Given the description of an element on the screen output the (x, y) to click on. 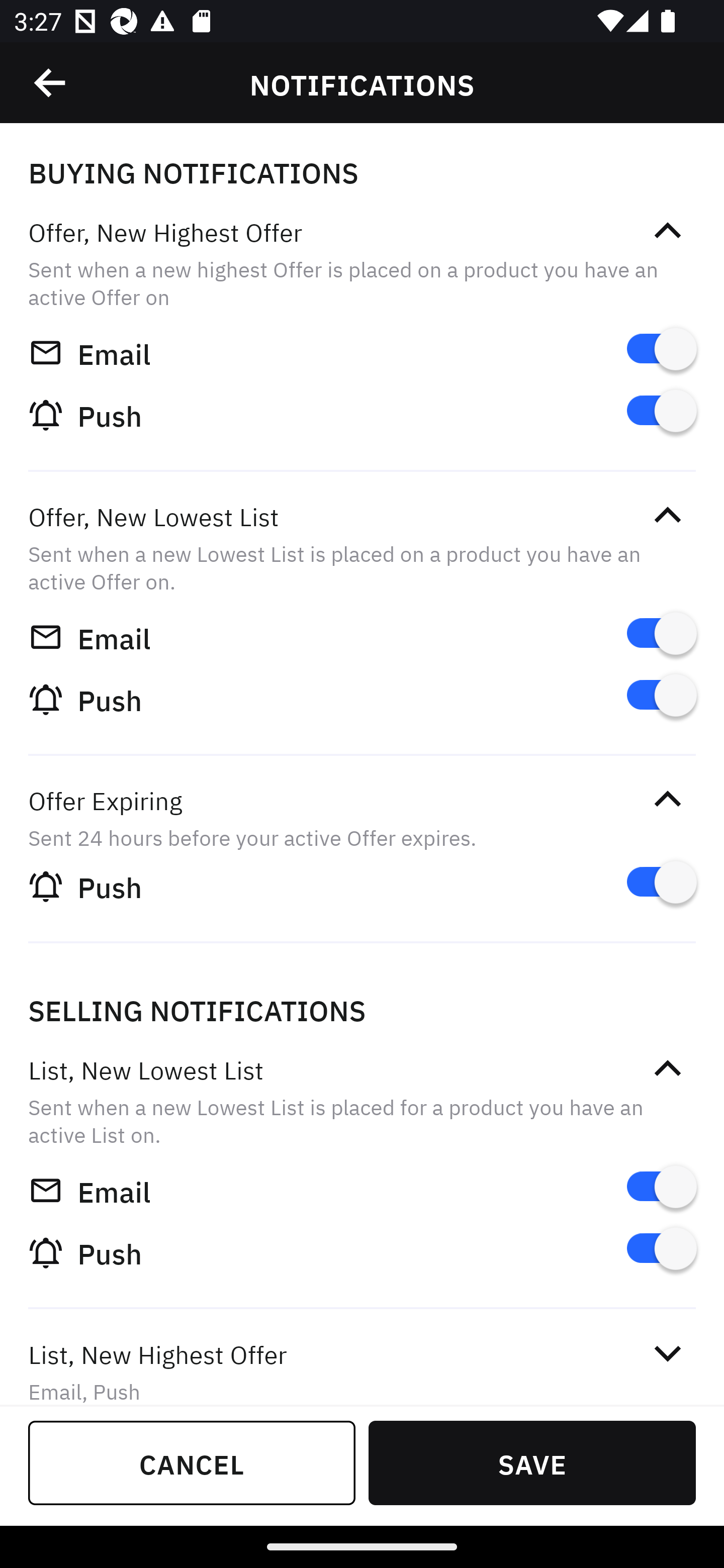
 (50, 83)
 (667, 231)
 (667, 514)
 (667, 799)
 (667, 1068)
List, New Highest Offer  Email, Push (361, 1358)
 (667, 1353)
CANCEL (191, 1462)
SAVE (531, 1462)
